Given the description of an element on the screen output the (x, y) to click on. 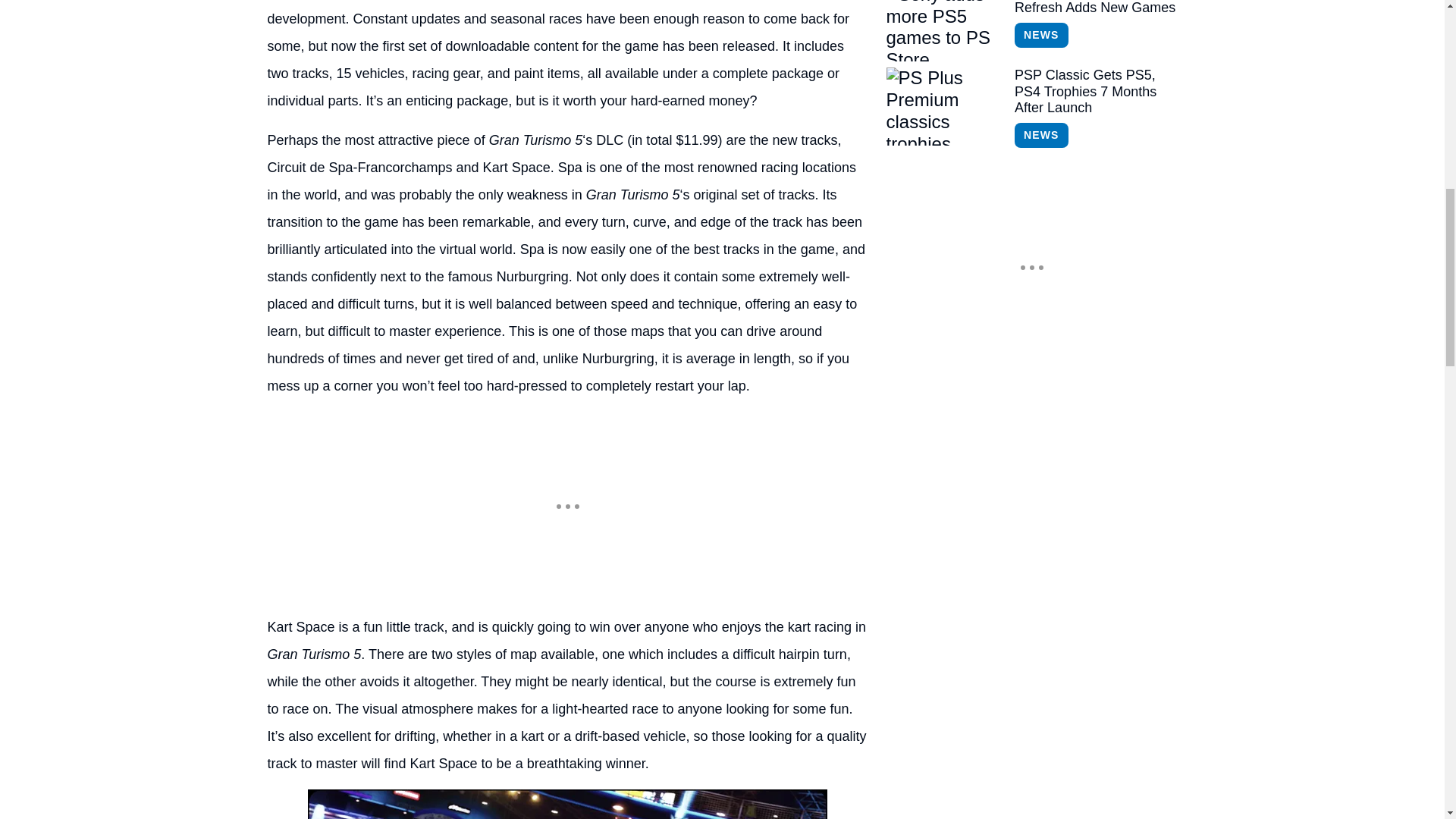
NEWS (1040, 135)
feature-GranTurismo5-DLC-Space-Review (567, 804)
PSP Classic Gets PS5, PS4 Trophies 7 Months After Launch (944, 105)
PS Store Summer Sale Refresh Adds New Games (1095, 8)
PSP Classic Gets PS5, PS4 Trophies 7 Months After Launch (1095, 92)
PSP Classic Gets PS5, PS4 Trophies 7 Months After Launch (1095, 92)
PS Store Summer Sale Refresh Adds New Games (1095, 8)
PS Store Summer Sale Refresh Adds New Games (944, 30)
NEWS (1040, 34)
